Given the description of an element on the screen output the (x, y) to click on. 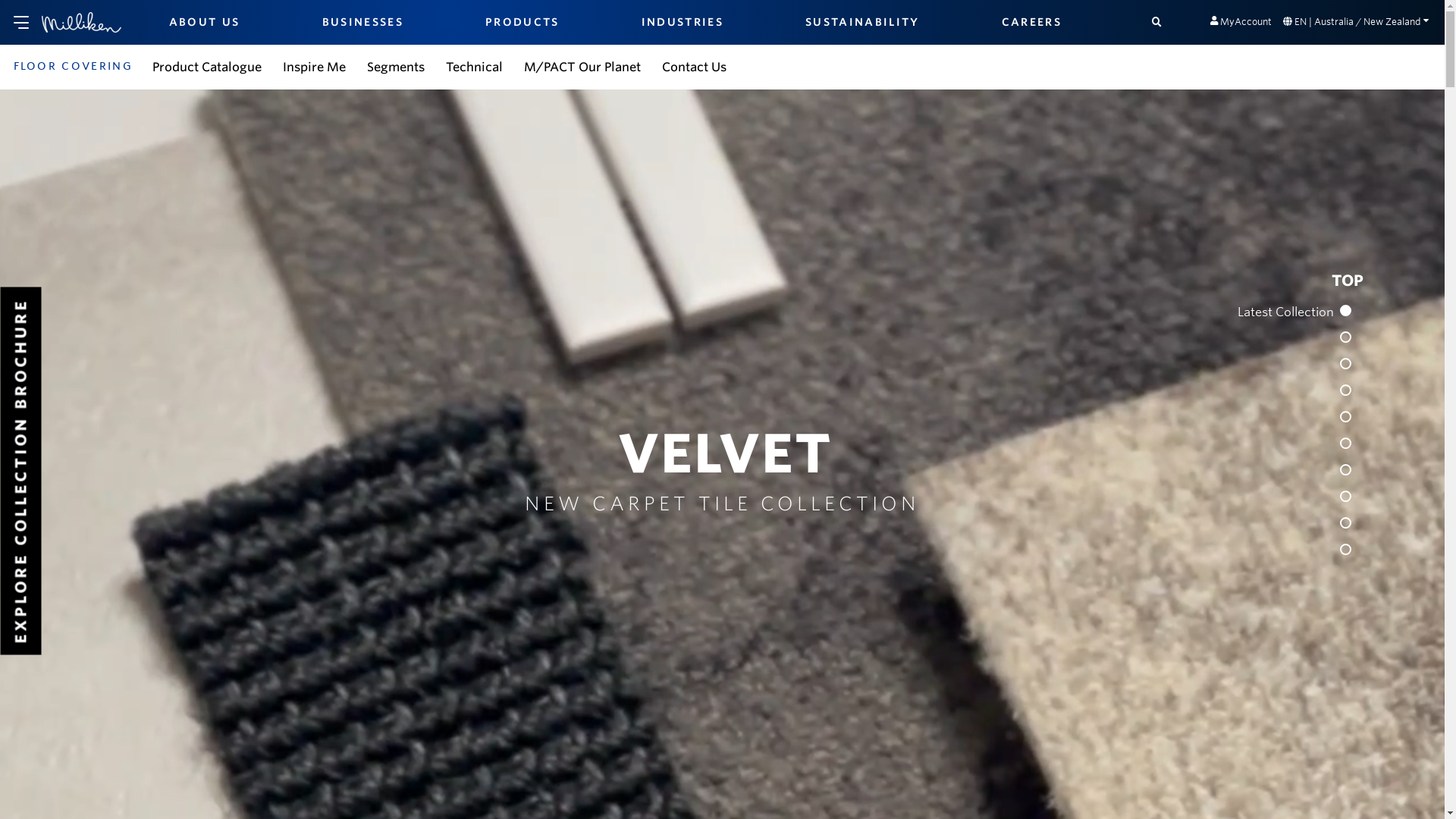
Technical Element type: text (473, 65)
Inspire Me Element type: text (313, 65)
Contact Us Element type: text (694, 65)
ABOUT US Element type: text (204, 21)
BUSINESSES Element type: text (362, 21)
TOP Element type: text (1347, 280)
MyAccount Element type: text (1240, 21)
FLOOR COVERING Element type: text (73, 65)
INDUSTRIES Element type: text (682, 21)
M/PACT Our Planet Element type: text (582, 65)
SUSTAINABILITY Element type: text (862, 21)
EXPLORE COLLECTION BROCHURE Element type: text (183, 306)
CAREERS Element type: text (1031, 21)
PRODUCTS Element type: text (522, 21)
Product Catalogue Element type: text (206, 65)
Segments Element type: text (395, 65)
EN | Australia / New Zealand Element type: text (1356, 21)
